Given the description of an element on the screen output the (x, y) to click on. 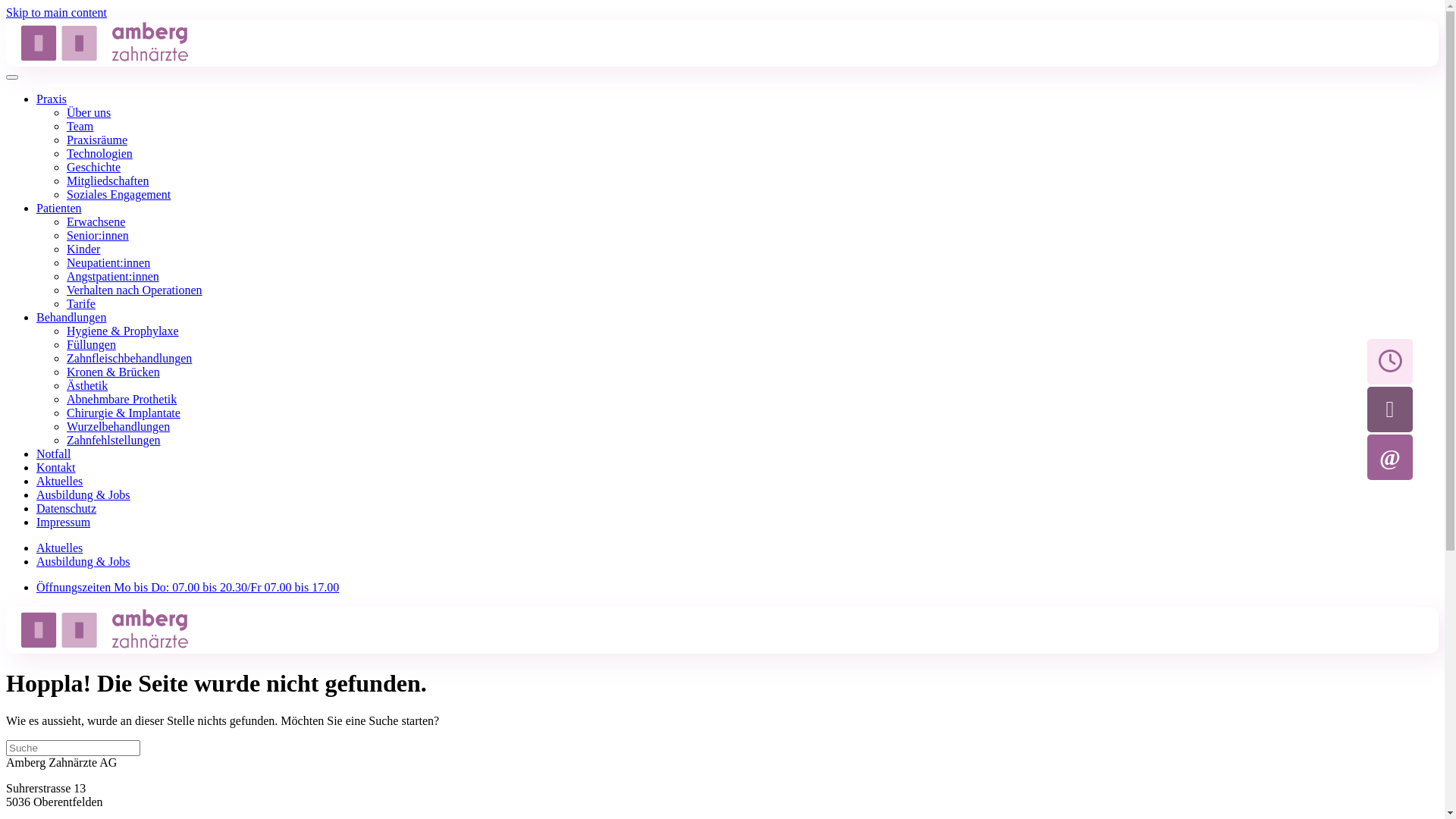
Datenschutz Element type: text (66, 508)
Senior:innen Element type: text (97, 235)
Angstpatient:innen Element type: text (112, 275)
Aktuelles Element type: text (59, 547)
Team Element type: text (79, 125)
Geschichte Element type: text (93, 166)
Notfall Element type: text (53, 453)
Abnehmbare Prothetik Element type: text (121, 398)
Kinder Element type: text (83, 248)
Praxis Element type: text (51, 98)
Soziales Engagement Element type: text (118, 194)
Verhalten nach Operationen Element type: text (134, 289)
Zahnfleischbehandlungen Element type: text (128, 357)
Patienten Element type: text (58, 207)
Technologien Element type: text (99, 153)
Skip to main content Element type: text (56, 12)
Wurzelbehandlungen Element type: text (117, 426)
Aktuelles Element type: text (59, 480)
Zahnfehlstellungen Element type: text (113, 439)
Erwachsene Element type: text (95, 221)
Neupatient:innen Element type: text (108, 262)
Hygiene & Prophylaxe Element type: text (122, 330)
Kontakt Element type: text (55, 467)
Ausbildung & Jobs Element type: text (83, 494)
Ausbildung & Jobs Element type: text (83, 561)
Impressum Element type: text (63, 521)
Chirurgie & Implantate Element type: text (123, 412)
Behandlungen Element type: text (71, 316)
Tarife Element type: text (80, 303)
Mitgliedschaften Element type: text (107, 180)
